Given the description of an element on the screen output the (x, y) to click on. 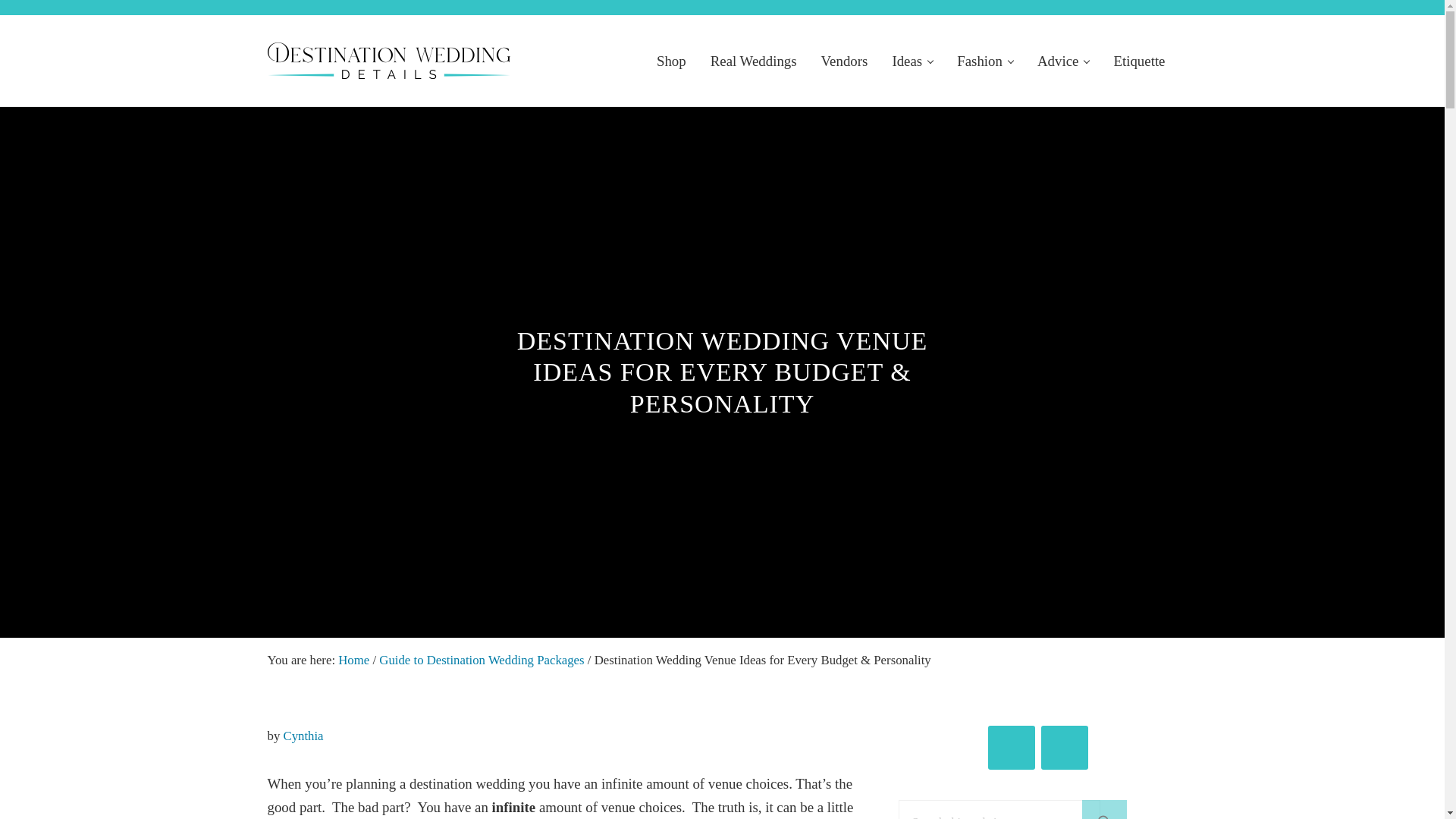
Fashion (984, 60)
Vendors (844, 60)
Real Weddings (753, 60)
Ideas (911, 60)
Shop (671, 60)
